Given the description of an element on the screen output the (x, y) to click on. 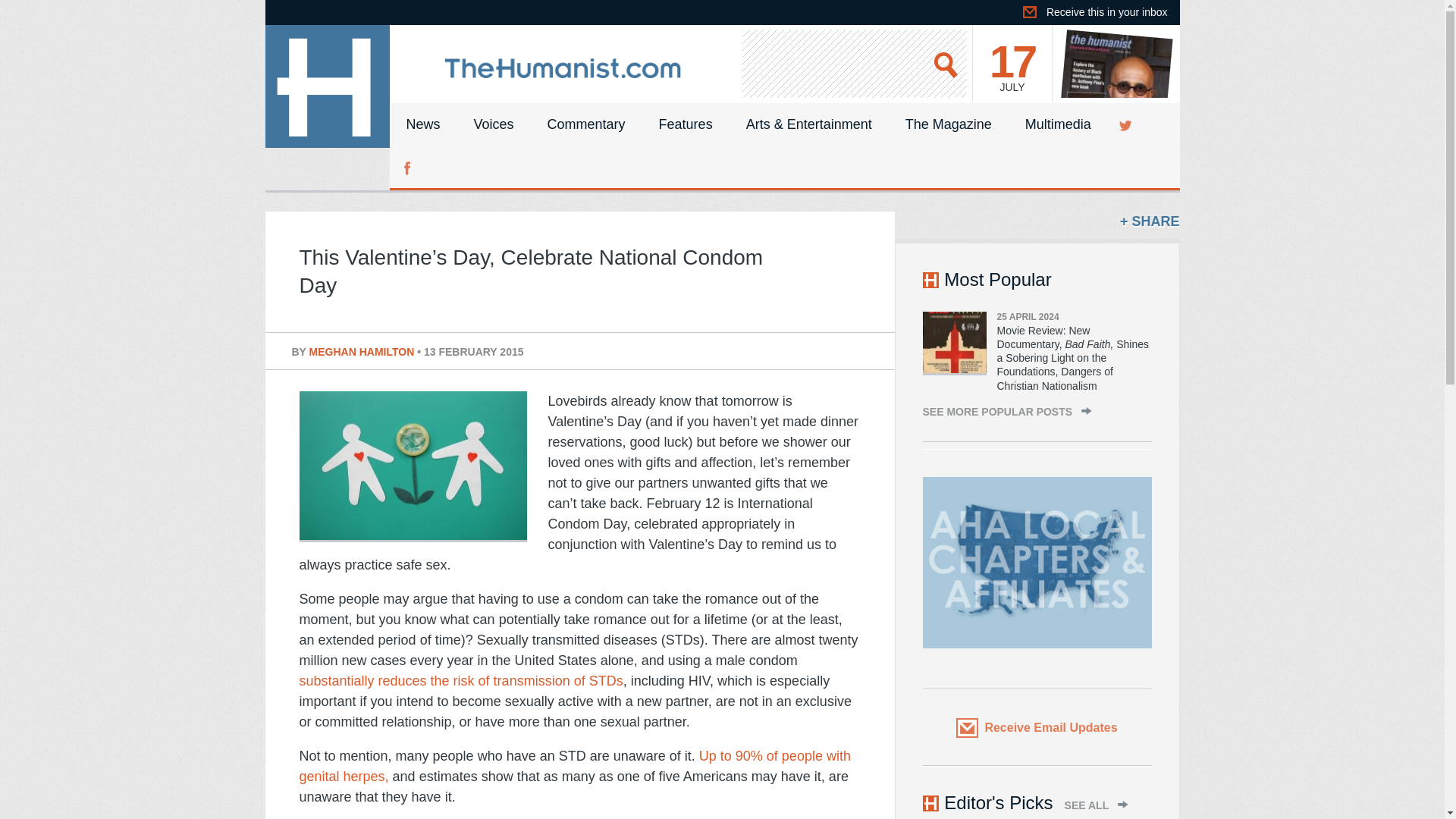
Commentary (586, 124)
Features (685, 124)
Search (947, 63)
Follow us on Twitter (1126, 124)
TheHumanist.com (562, 75)
Voices (494, 124)
Search (947, 63)
Find a local group (1036, 562)
Receive this in your inbox (1100, 12)
News (423, 124)
Like us on Facebook (409, 166)
See Current Issue (1117, 63)
The Magazine (948, 124)
TheHumanist.com (327, 86)
Search (947, 63)
